Given the description of an element on the screen output the (x, y) to click on. 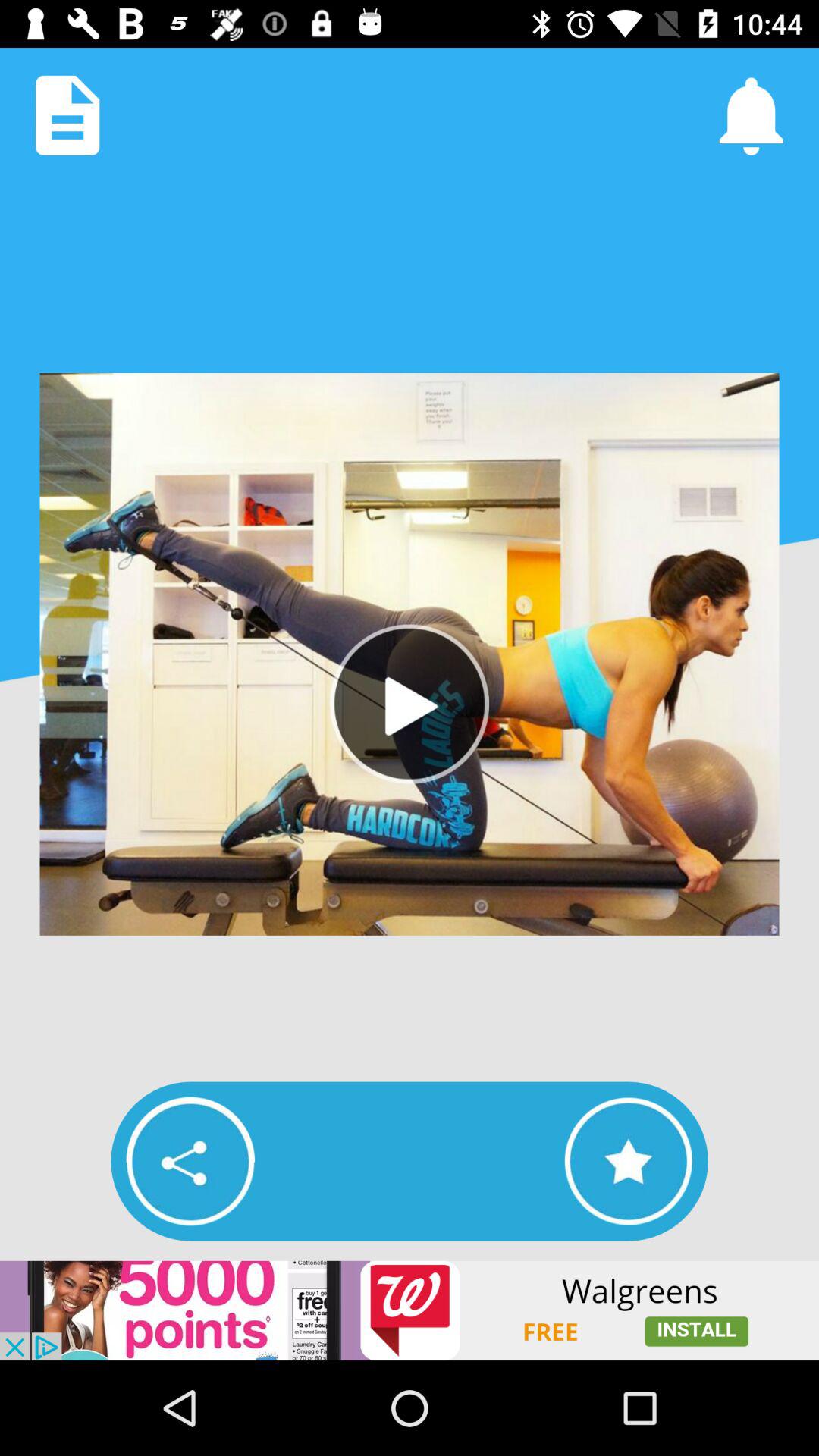
share the video (190, 1161)
